Given the description of an element on the screen output the (x, y) to click on. 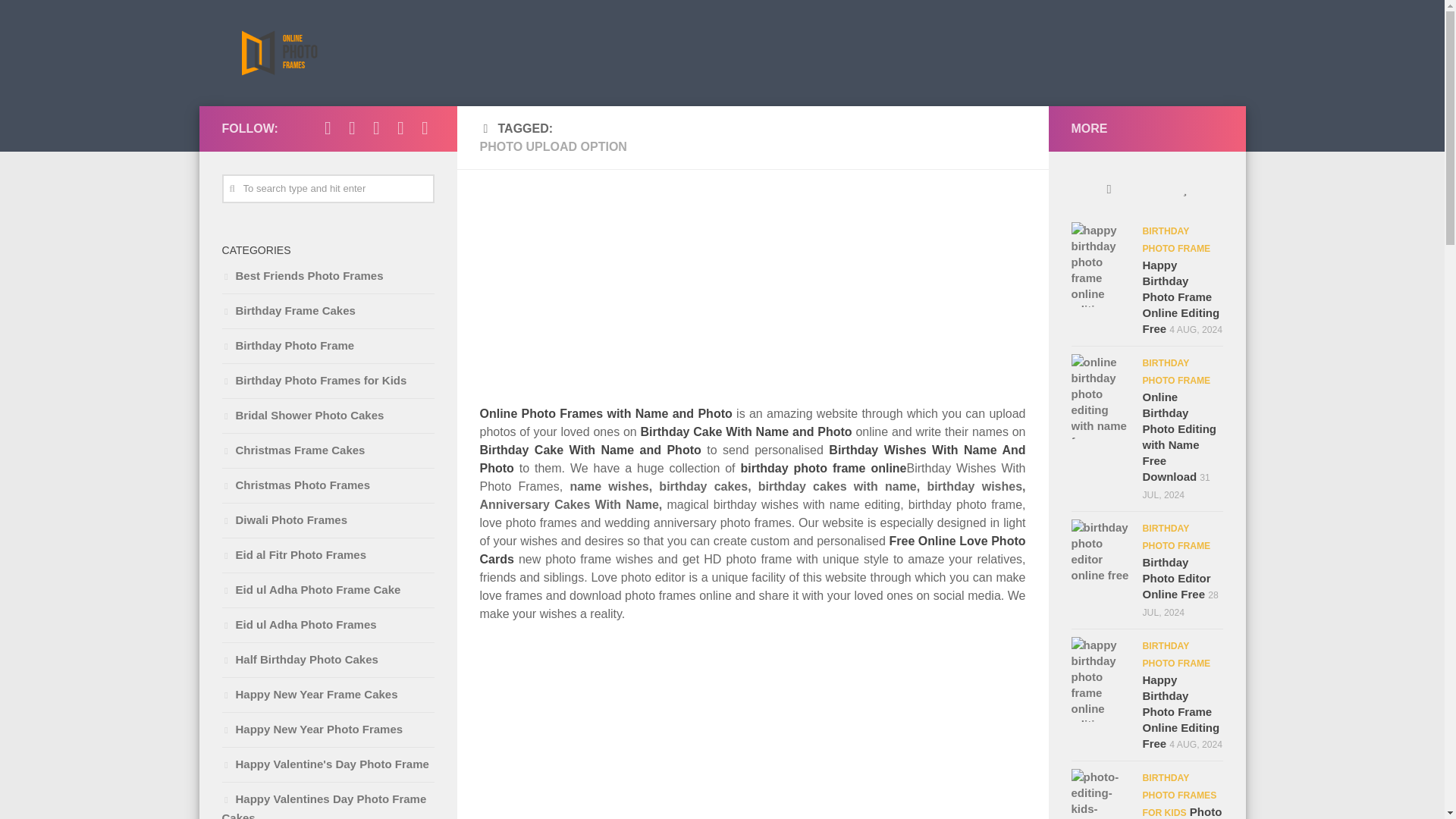
Best Friends Photo Frames (301, 275)
To search type and hit enter (327, 188)
Birthday Photo Frames for Kids (313, 379)
Bridal Shower Photo Cakes (302, 414)
Birthday Frame Cakes (288, 309)
To search type and hit enter (327, 188)
Christmas Frame Cakes (293, 449)
Birthday Photo Frame (287, 345)
